Given the description of an element on the screen output the (x, y) to click on. 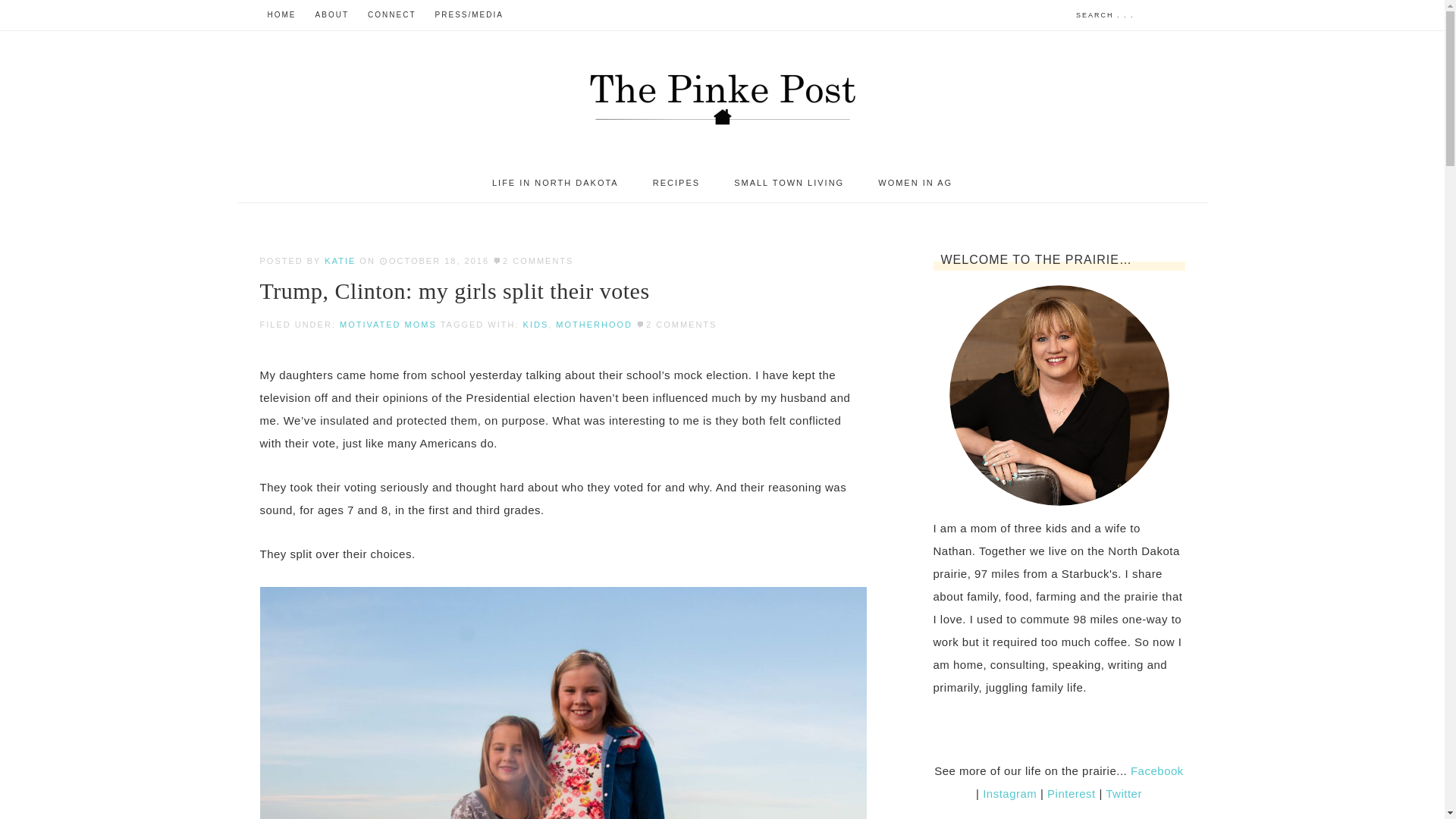
THE PINKE POST (722, 96)
KATIE (339, 260)
CONNECT (391, 15)
WOMEN IN AG (915, 182)
MOTHERHOOD (593, 324)
2 COMMENTS (681, 324)
Facebook (1157, 770)
Twitter (1123, 793)
2 COMMENTS (537, 260)
MOTIVATED MOMS (387, 324)
